Given the description of an element on the screen output the (x, y) to click on. 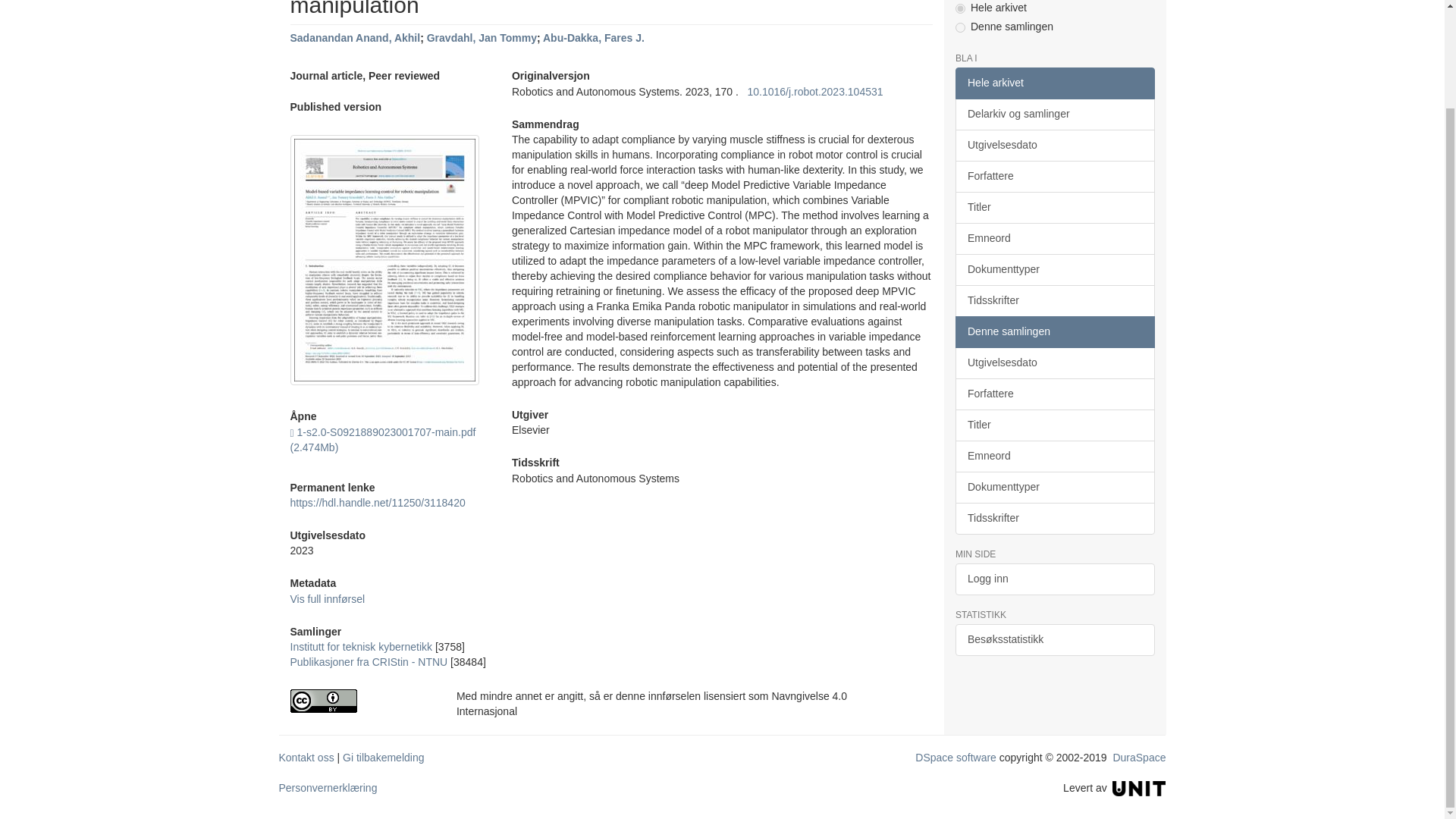
Hele arkivet (1054, 83)
Unit (1139, 787)
Institutt for teknisk kybernetikk (360, 646)
Utgivelsesdato (1054, 145)
Publikasjoner fra CRIStin - NTNU (367, 662)
Navngivelse 4.0 Internasjonal (360, 700)
Delarkiv og samlinger (1054, 114)
Sadanandan Anand, Akhil (354, 37)
Gravdahl, Jan Tommy (481, 37)
Abu-Dakka, Fares J. (594, 37)
